Given the description of an element on the screen output the (x, y) to click on. 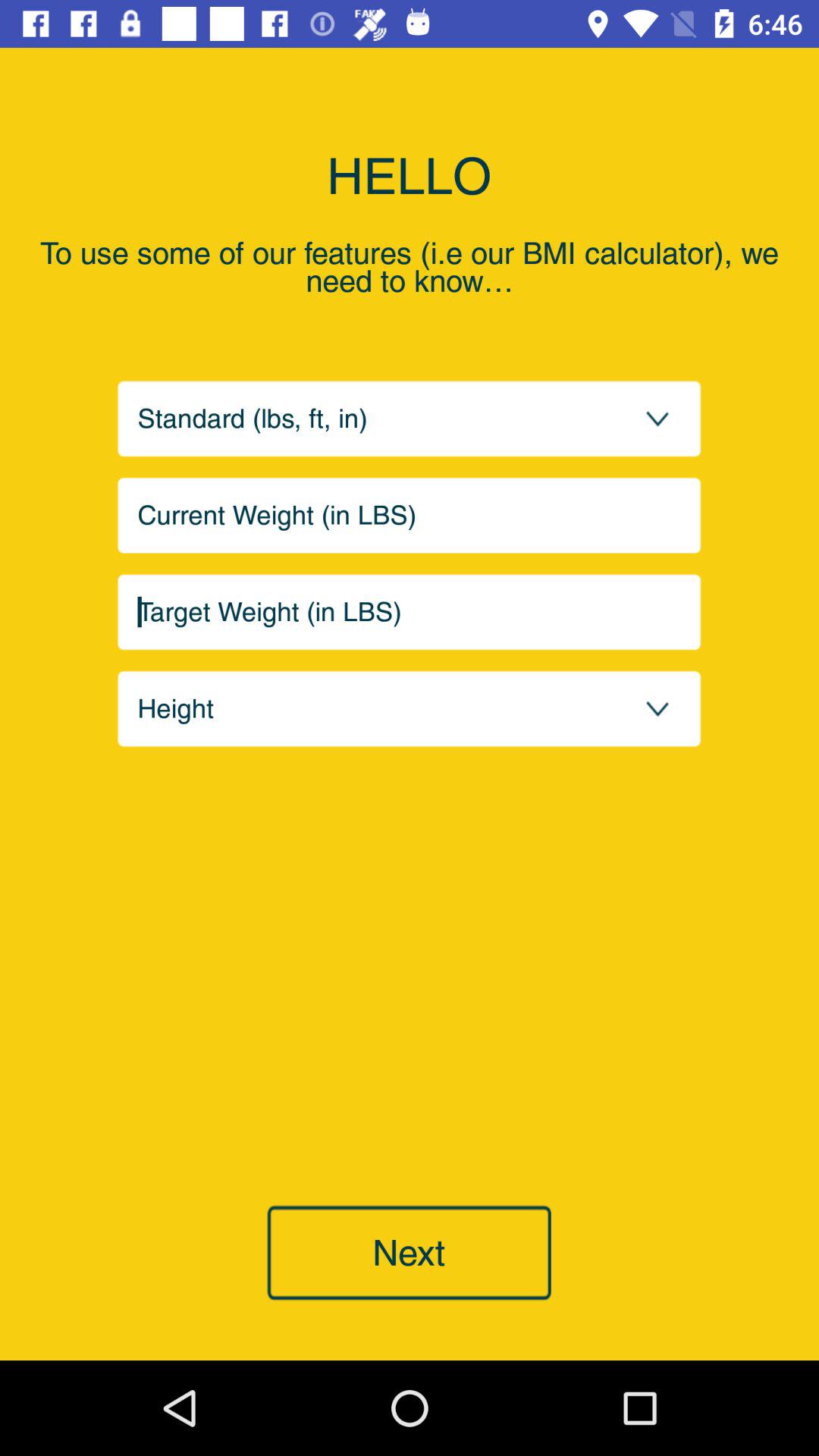
height (409, 708)
